Given the description of an element on the screen output the (x, y) to click on. 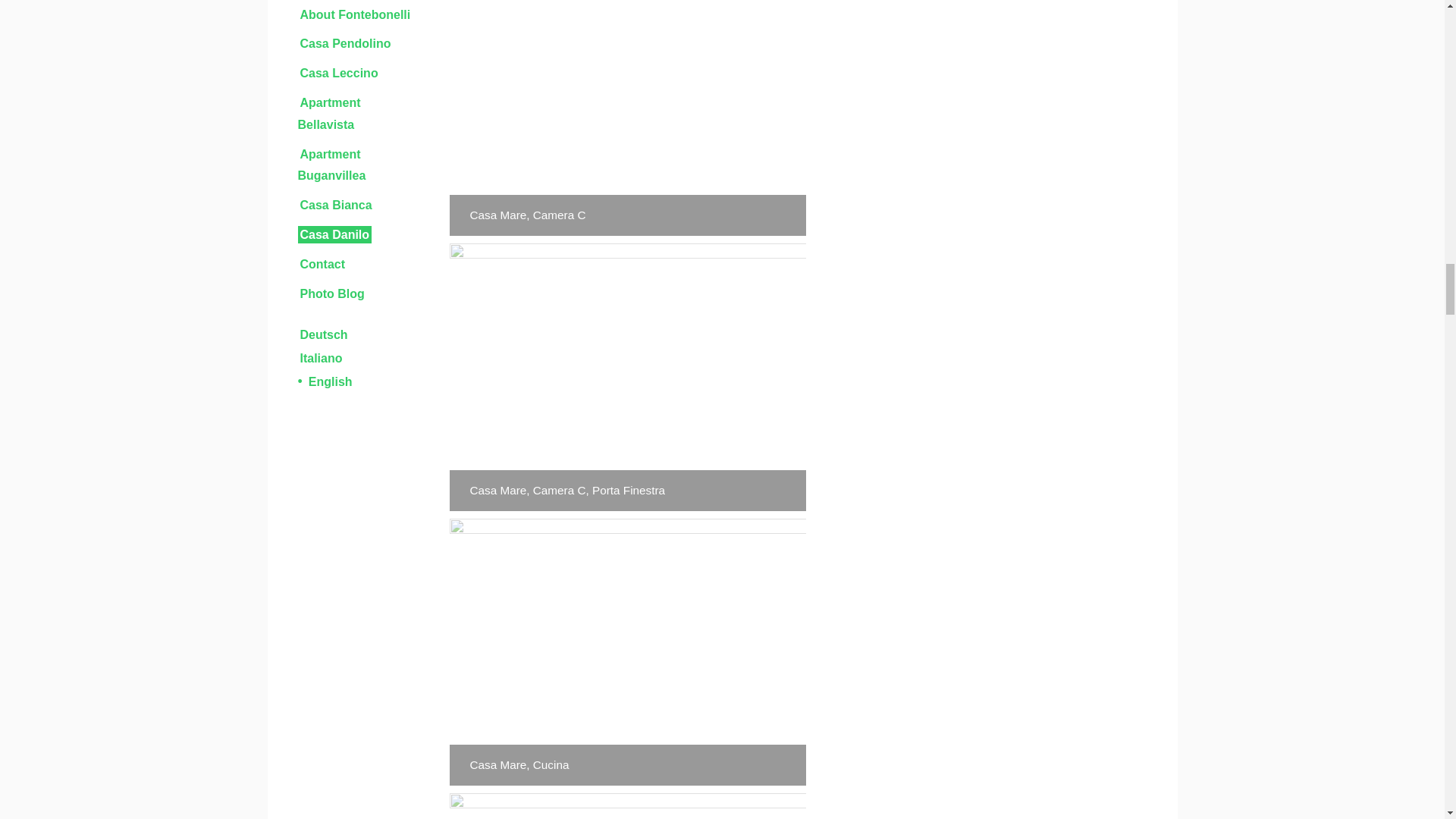
Casa Mare, Camera C, Porta Finestra (626, 377)
Casa Mare, Cucina (626, 806)
Casa Mare, Camera C (626, 118)
Casa Mare, Camera C (626, 118)
Casa Mare, Cucina (626, 652)
Casa Mare, Camera C, Porta Finestra (626, 377)
